Given the description of an element on the screen output the (x, y) to click on. 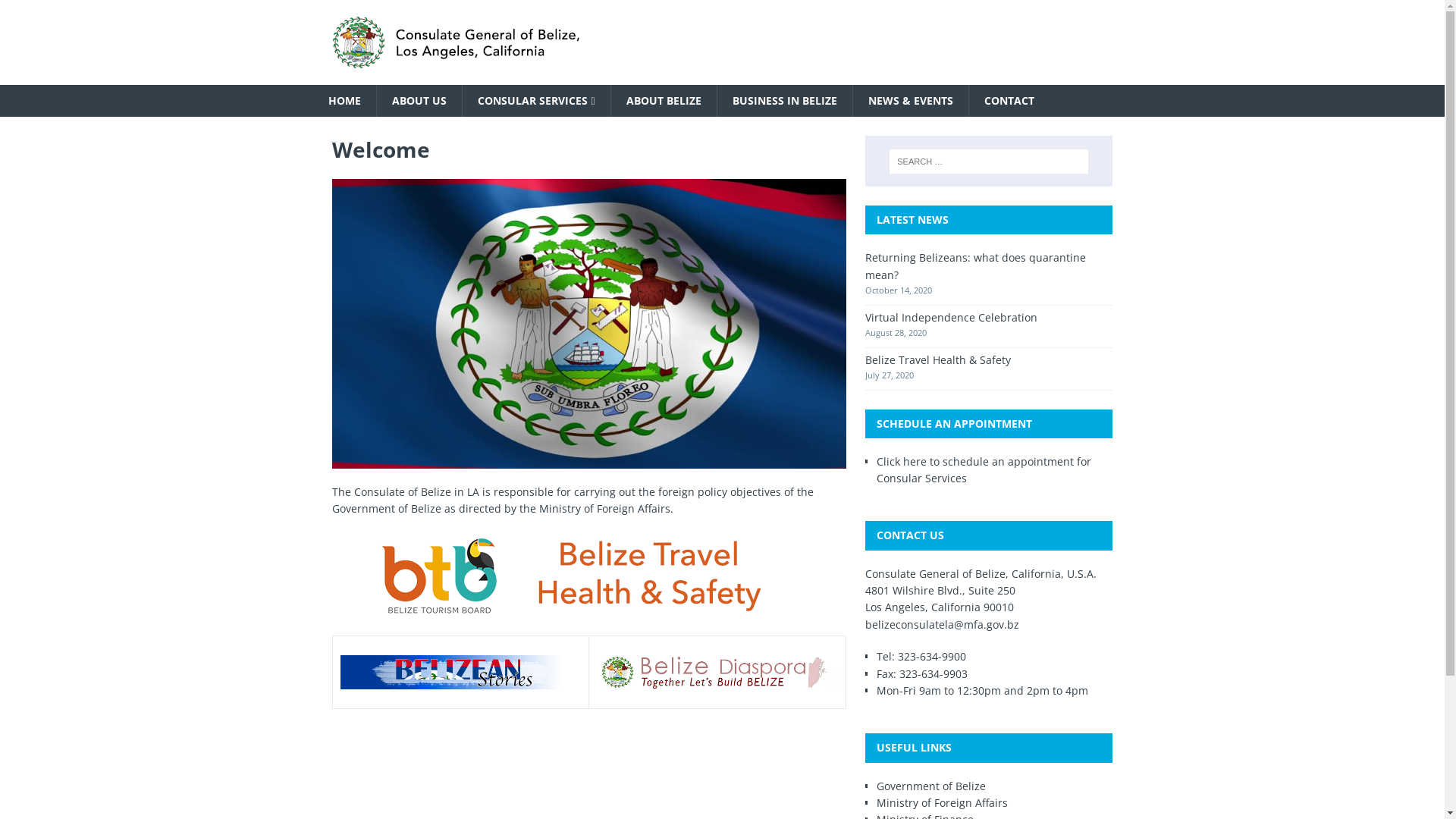
ABOUT BELIZE Element type: text (663, 100)
BUSINESS IN BELIZE Element type: text (784, 100)
ABOUT US Element type: text (418, 100)
NEWS & EVENTS Element type: text (910, 100)
CONSULAR SERVICES Element type: text (535, 100)
Virtual Independence Celebration Element type: text (951, 317)
Returning Belizeans: what does quarantine mean? Element type: text (975, 265)
Search Element type: text (56, 11)
Belize Travel Health & Safety Element type: text (937, 359)
belizeconsulatela@mfa.gov.bz Element type: text (942, 624)
Ministry of Foreign Affairs Element type: text (941, 802)
CONTACT Element type: text (1008, 100)
Click here to schedule an appointment for Consular Services Element type: text (983, 469)
Government of Belize Element type: text (930, 785)
HOME Element type: text (343, 100)
